Given the description of an element on the screen output the (x, y) to click on. 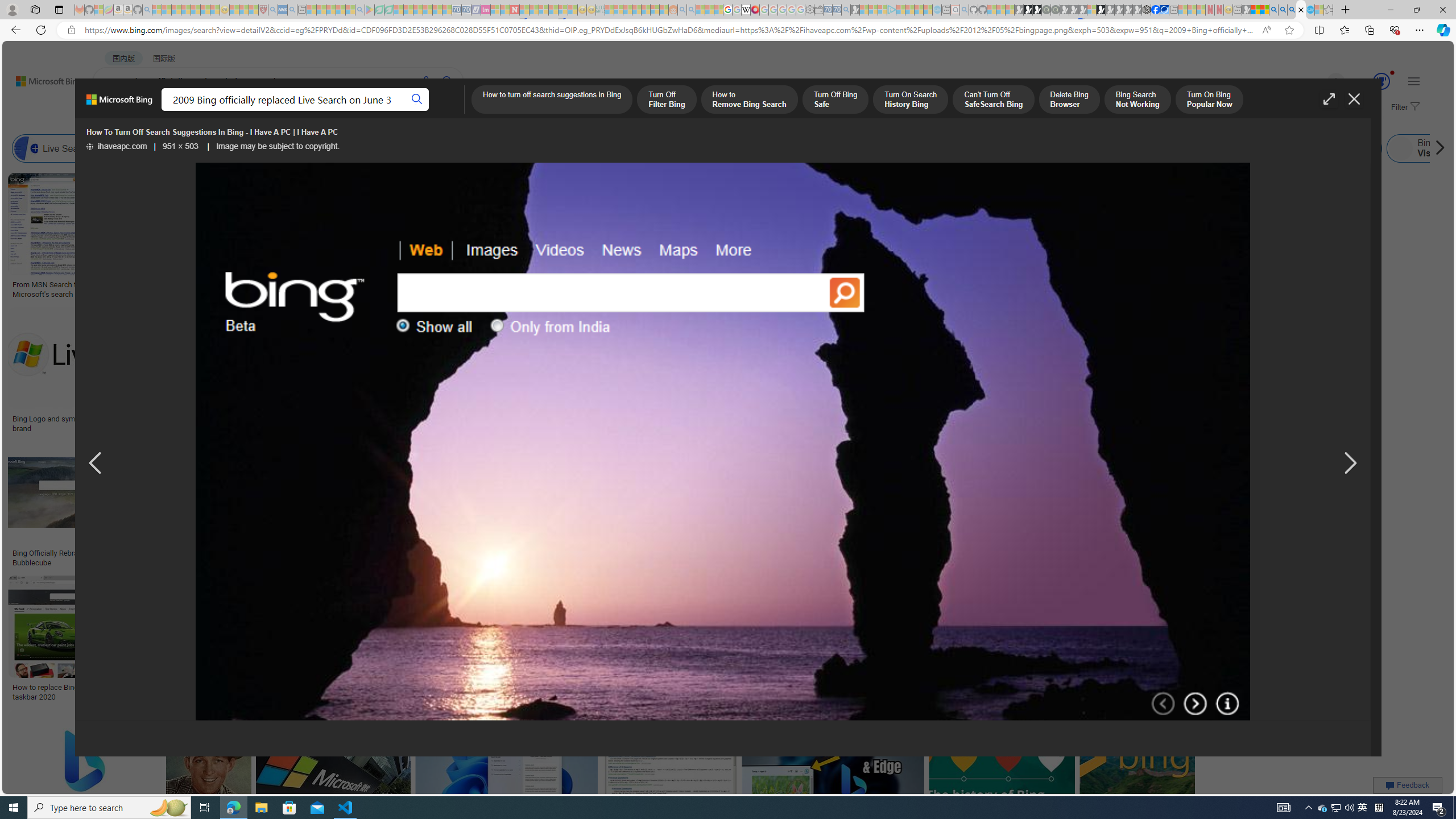
Remove the 'News & Interests' bar from Bing | TechLife (860, 419)
Turn On Bing Popular Now (1208, 100)
Technology History timeline | Timetoast timelines (833, 289)
MY BING (156, 111)
Bing Logo Design Evolution 2009 to 2016 | Smithographic (586, 288)
Bing: rebranding search: idsgn (a design blog) (699, 289)
Live Search (25, 148)
Class: b_pri_nav_svg (240, 112)
